Given the description of an element on the screen output the (x, y) to click on. 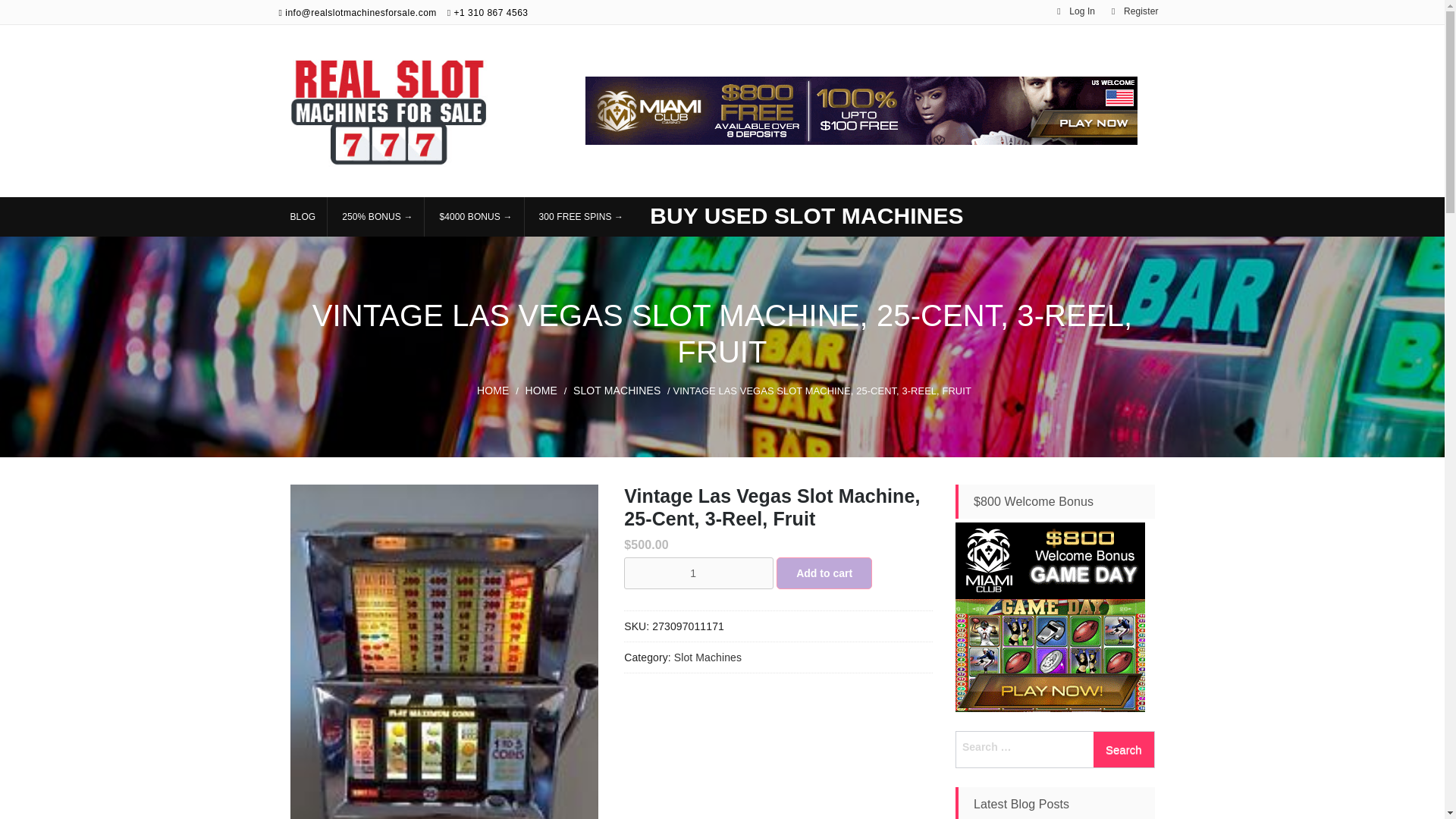
SLOT MACHINES (617, 390)
Slot Machines (707, 657)
Register (1135, 10)
Search (1123, 749)
Search (1123, 749)
Log In (1076, 10)
s-l300.jpg (443, 651)
Search (1123, 749)
HOME (541, 390)
HOME (492, 390)
1 (698, 572)
Add to cart (824, 572)
